Given the description of an element on the screen output the (x, y) to click on. 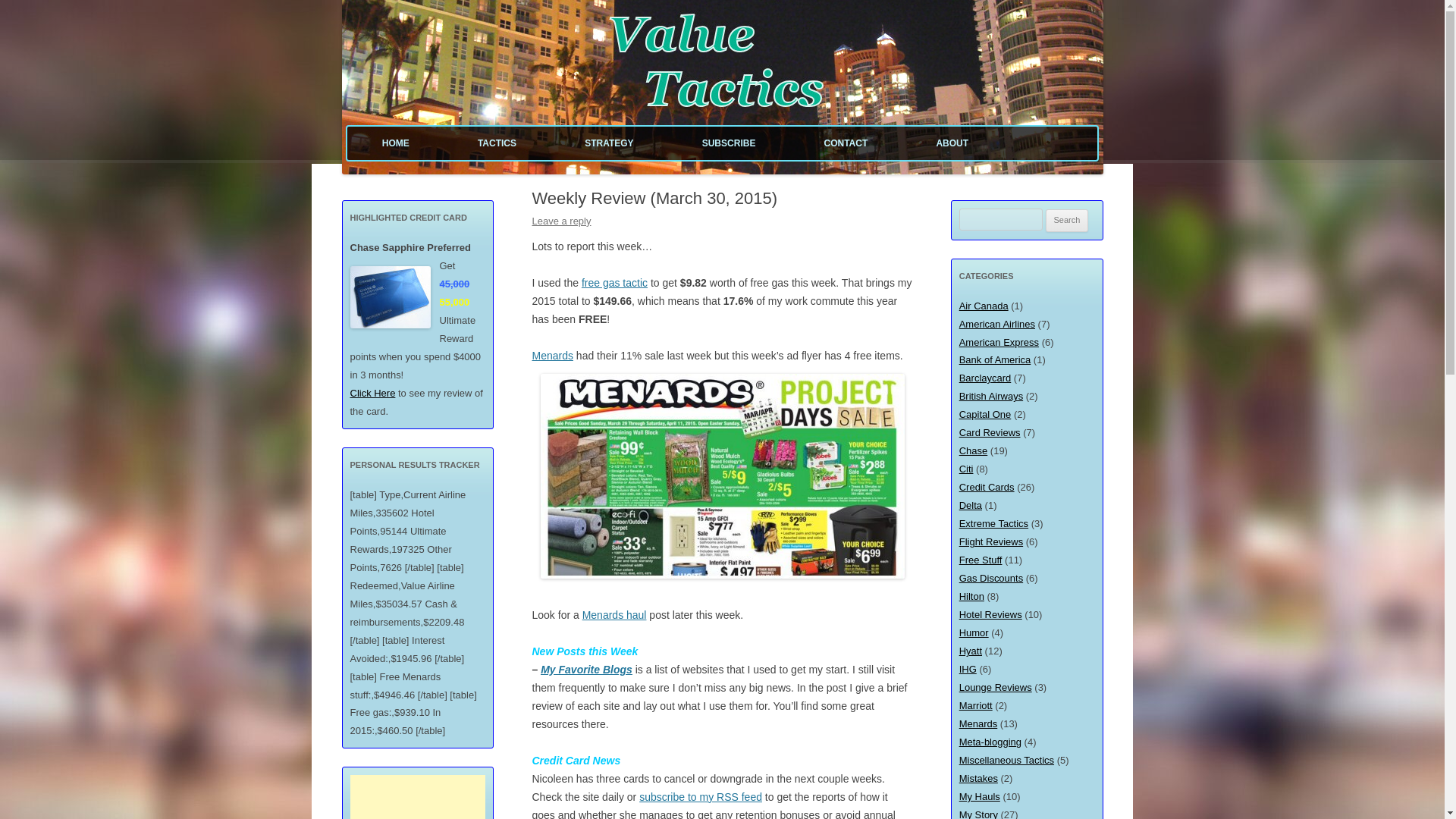
Click Here (373, 392)
American Express (999, 342)
Search (1067, 220)
Skip to content (757, 131)
Hauls (614, 614)
Advertisement (418, 796)
Menards haul (614, 614)
American Airlines (997, 324)
My Favorite Blogs (585, 669)
Value Tactics (402, 18)
